Given the description of an element on the screen output the (x, y) to click on. 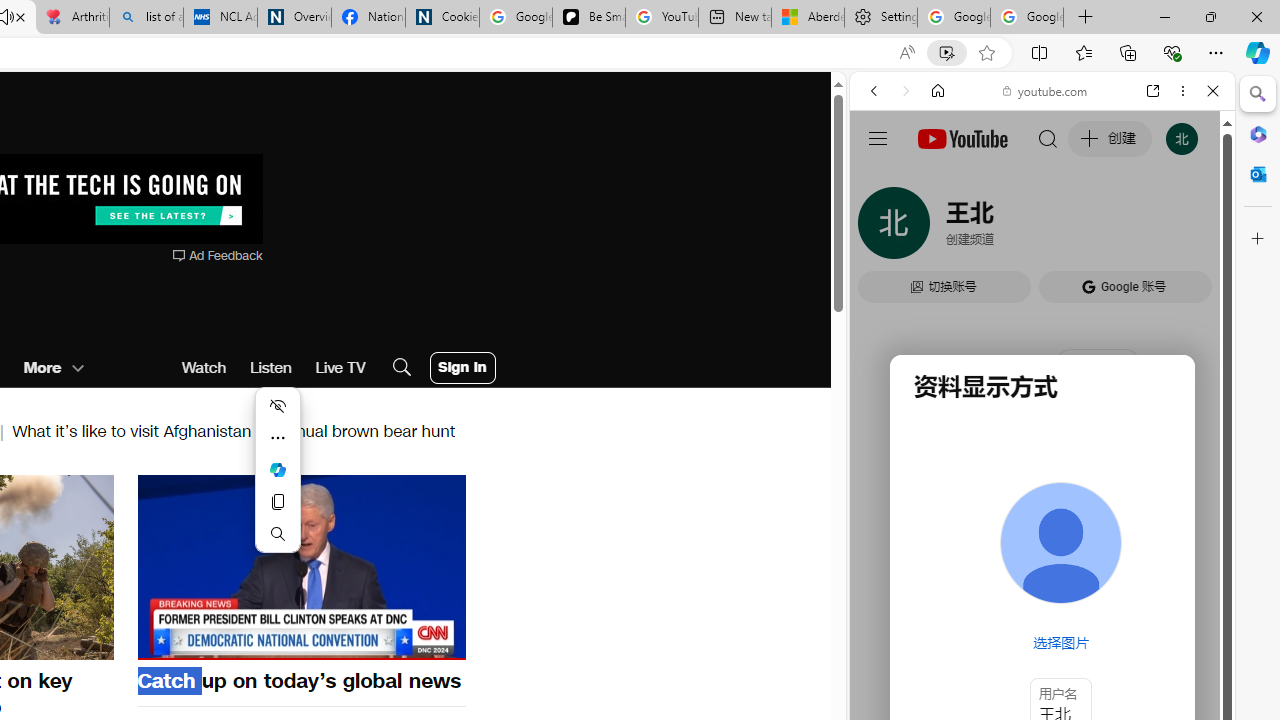
Forward 10 seconds (361, 565)
User Account Log In Button (462, 367)
Mini menu on text selection (277, 481)
Pause (301, 567)
